Given the description of an element on the screen output the (x, y) to click on. 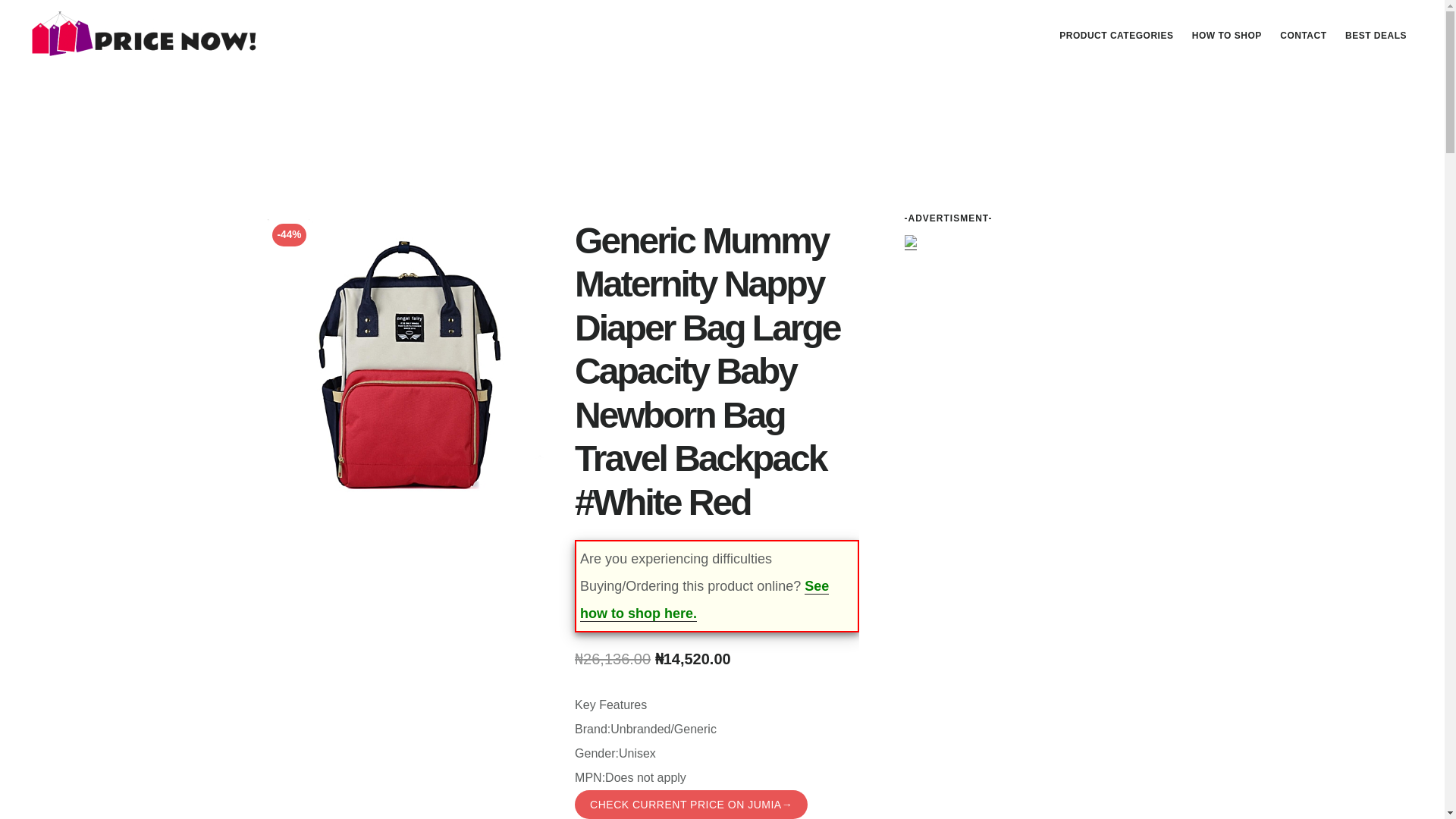
PRODUCT CATEGORIES (1115, 35)
Earbud Promo Sale (909, 243)
1-4443 (408, 360)
PRICENOW NG (143, 32)
Check Current Price on Jumia (1375, 35)
